Given the description of an element on the screen output the (x, y) to click on. 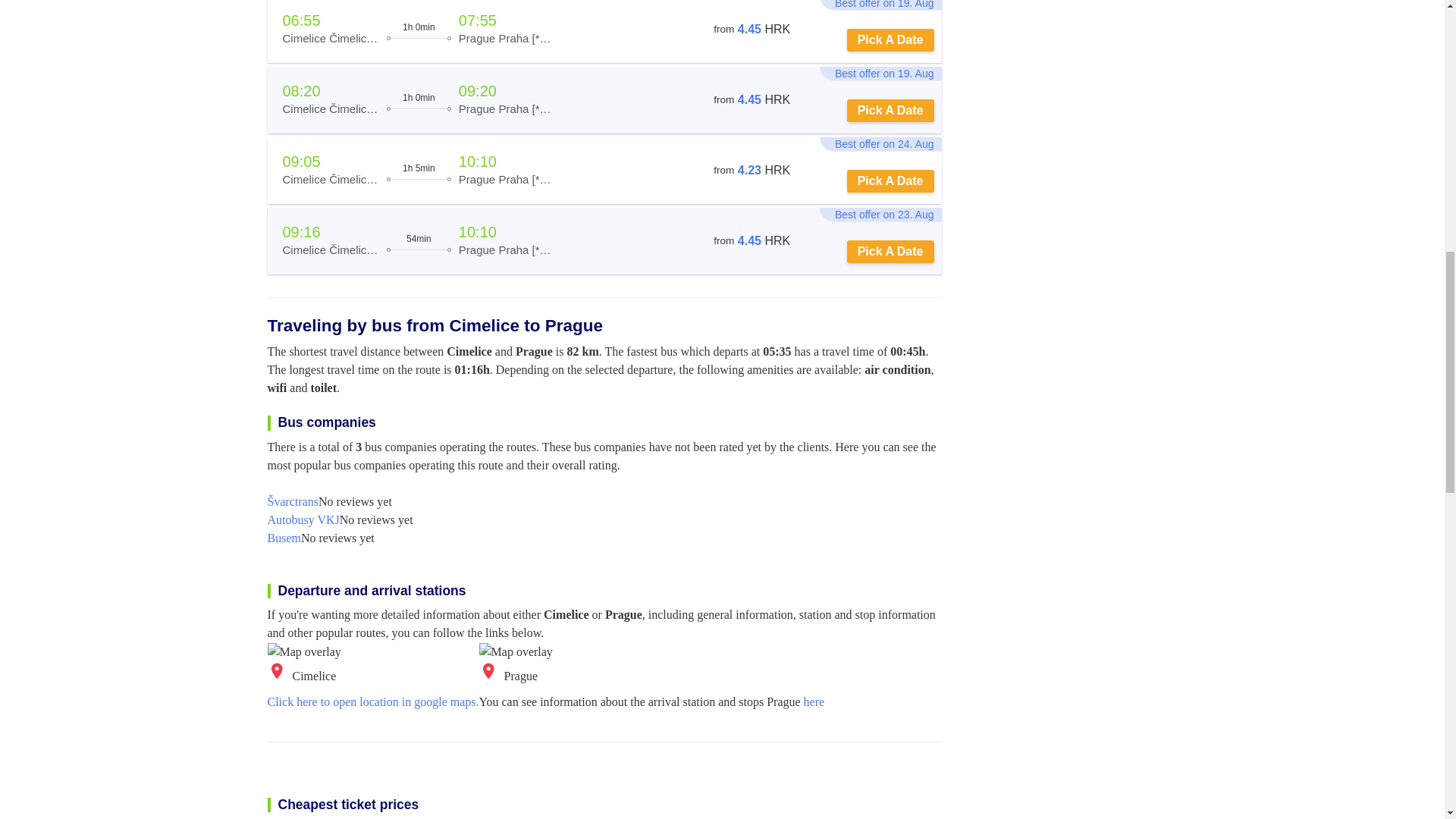
Click here to open location in google maps. (372, 701)
Autobusy VKJ (302, 520)
Busem (282, 538)
here (814, 701)
